Given the description of an element on the screen output the (x, y) to click on. 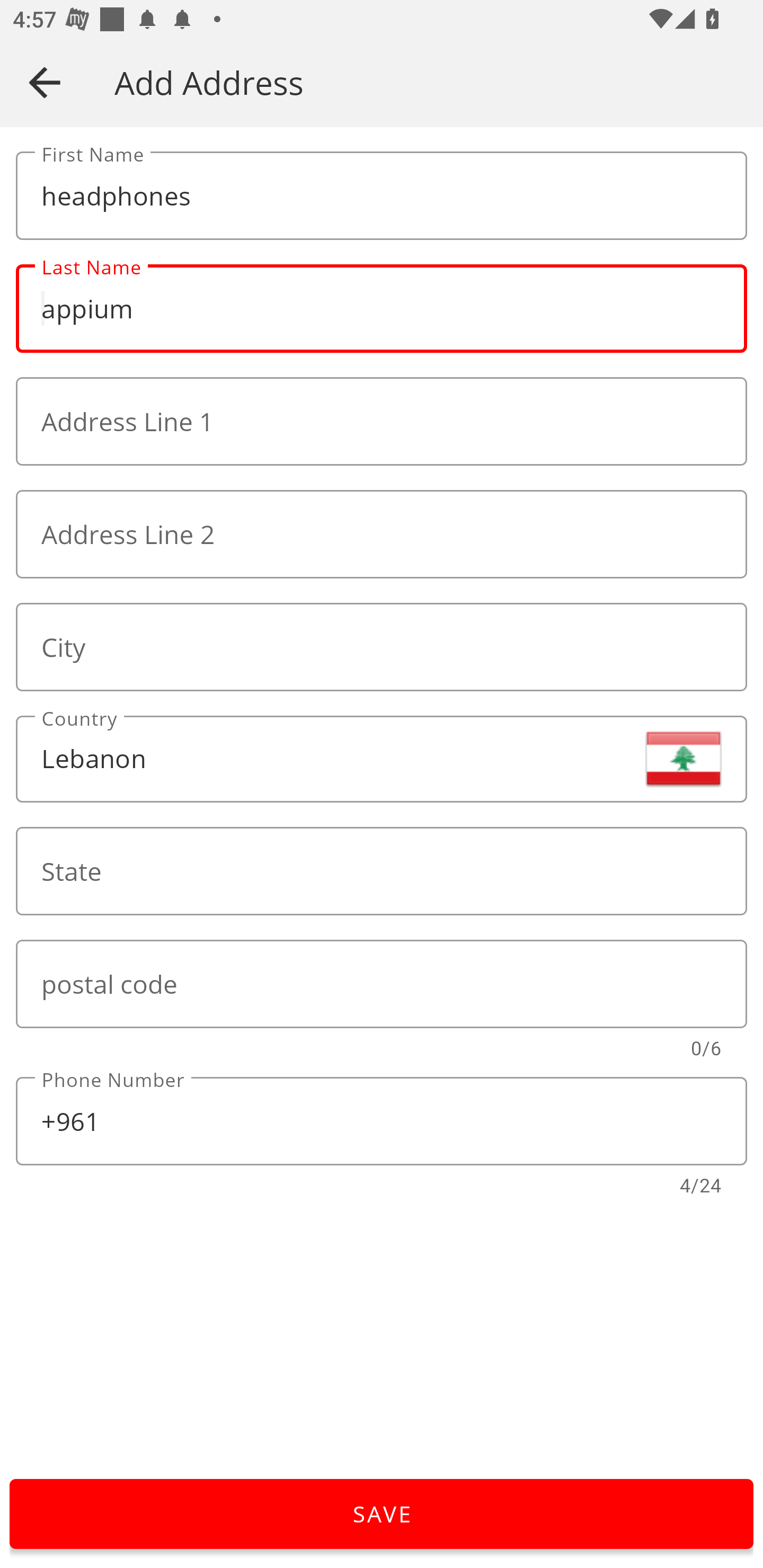
Navigate up (44, 82)
headphones (381, 195)
appium (381, 308)
Address Line 1 (381, 421)
Address Line 2 (381, 533)
City (381, 646)
Lebanon (381, 758)
State (381, 870)
postal code (381, 983)
+961 (381, 1121)
SAVE (381, 1513)
